Given the description of an element on the screen output the (x, y) to click on. 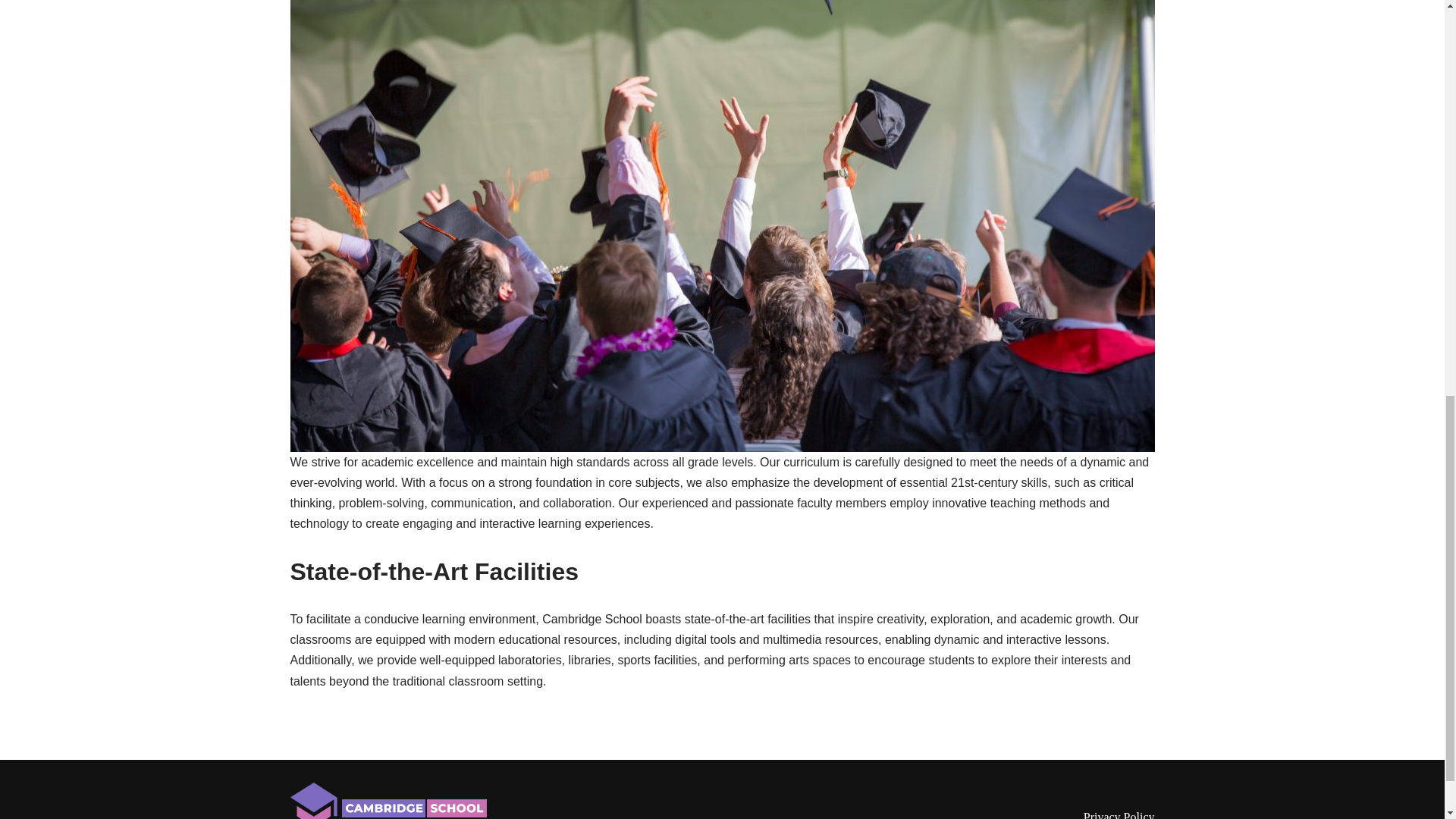
Privacy Policy (1118, 814)
